Given the description of an element on the screen output the (x, y) to click on. 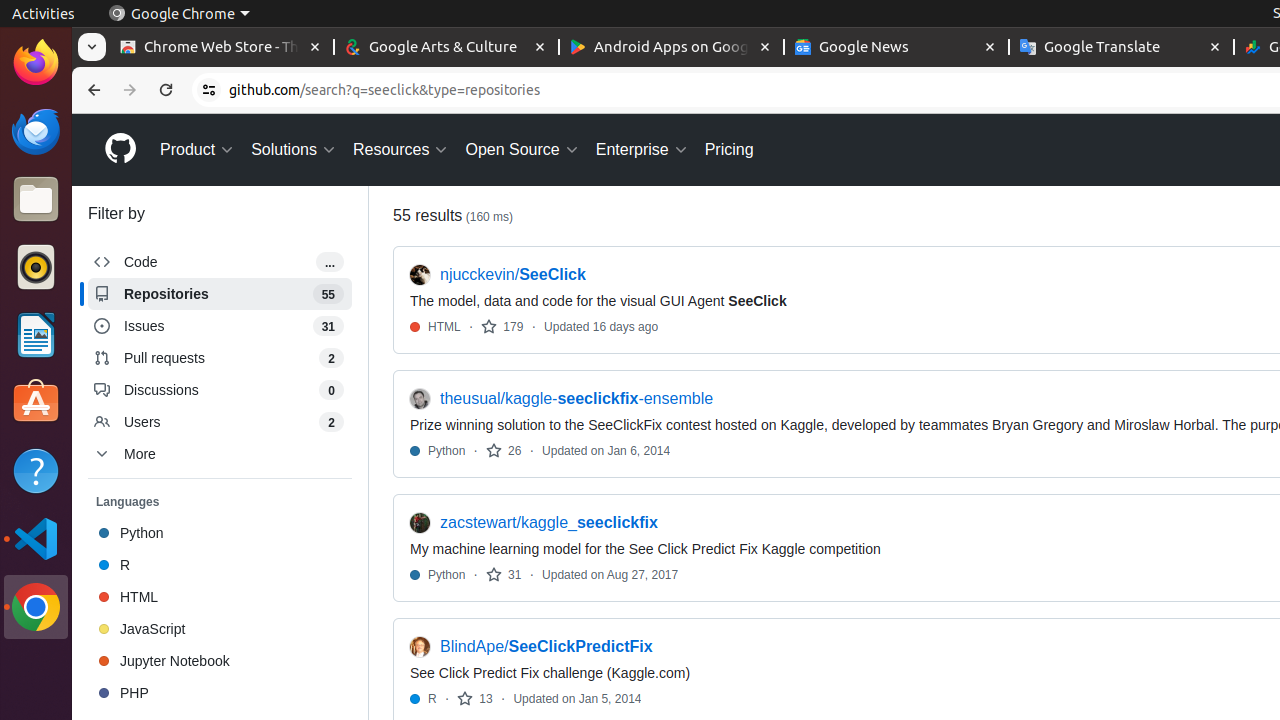
Firefox Web Browser Element type: push-button (36, 63)
‎JavaScript‎ Element type: link (220, 629)
Repositories , 55 results  (55) Element type: link (220, 294)
